Given the description of an element on the screen output the (x, y) to click on. 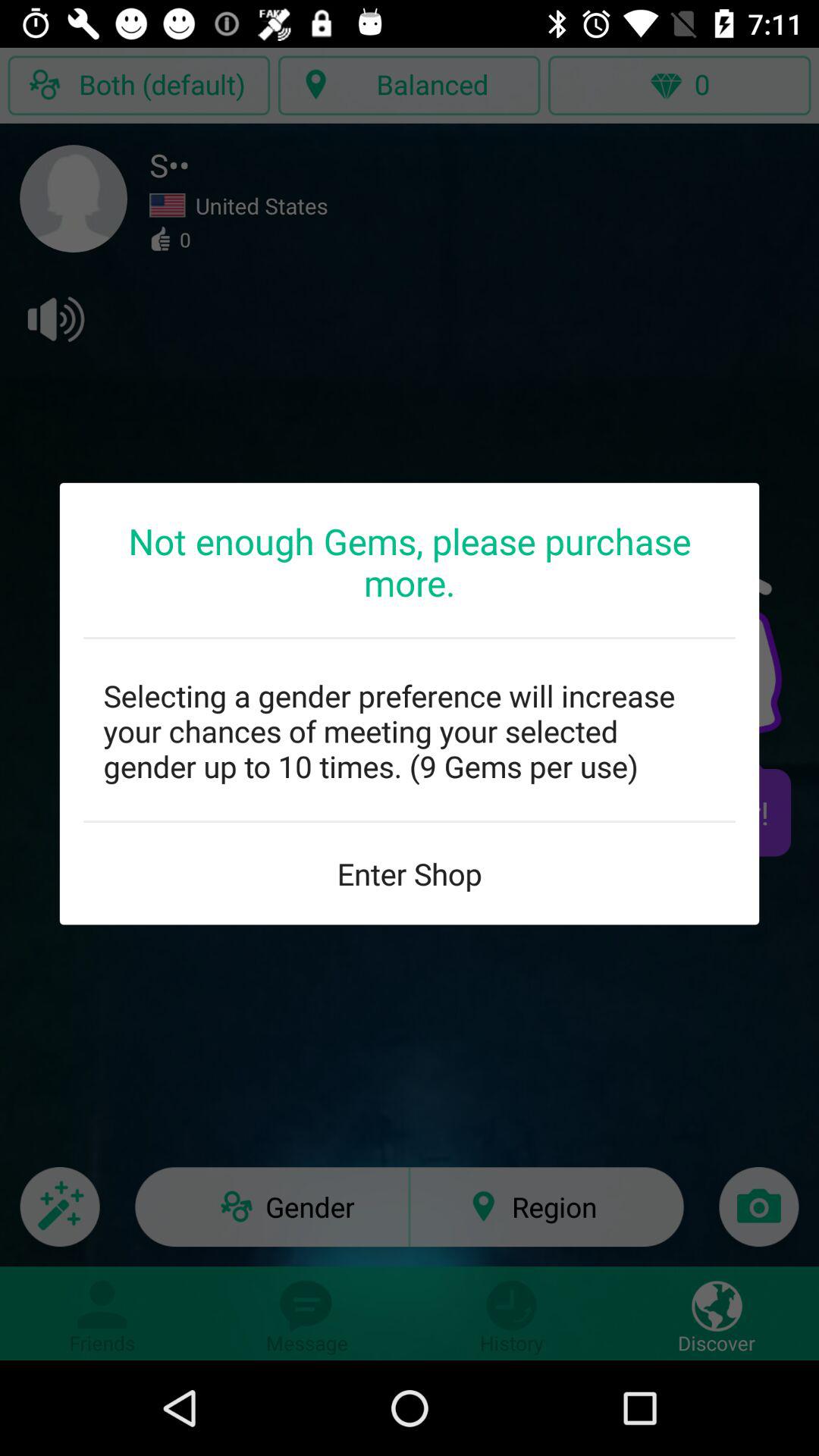
tap enter shop icon (409, 873)
